Given the description of an element on the screen output the (x, y) to click on. 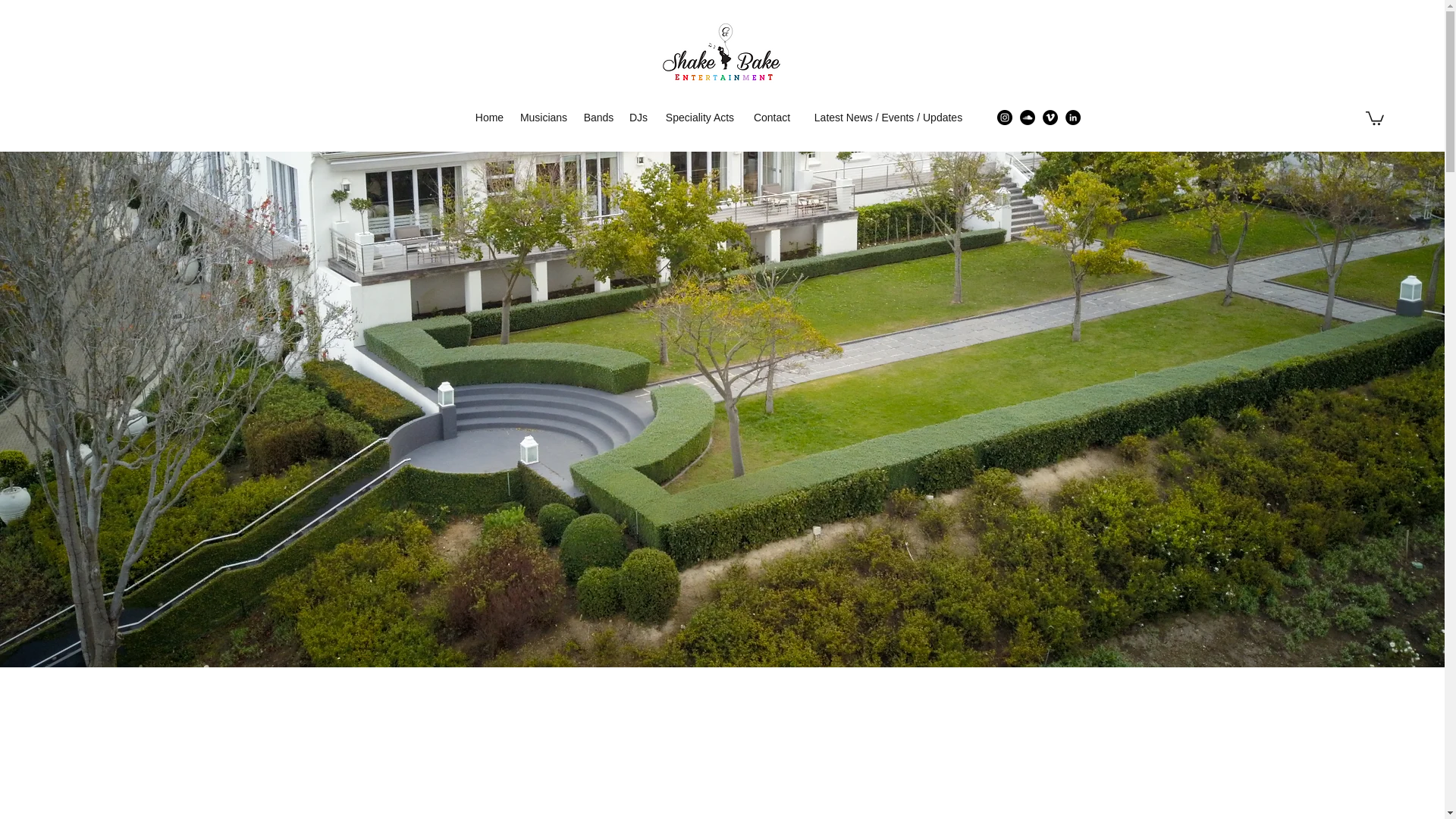
DJs (638, 117)
Home (489, 117)
Musicians (543, 117)
Contact (771, 117)
Bands (598, 117)
Speciality Acts (699, 117)
